Given the description of an element on the screen output the (x, y) to click on. 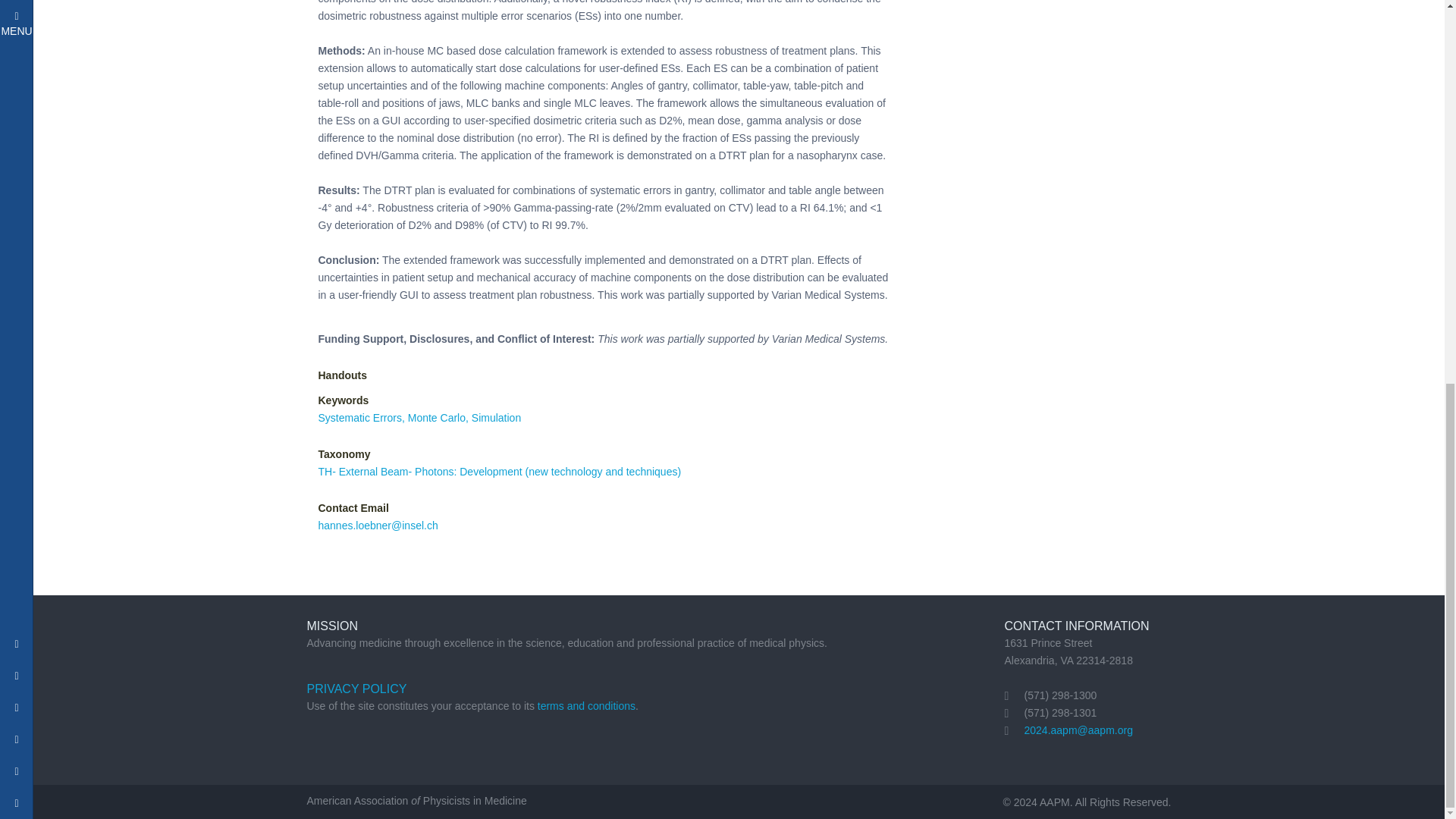
AAPM Home (148, 82)
Coordinators (217, 82)
